Given the description of an element on the screen output the (x, y) to click on. 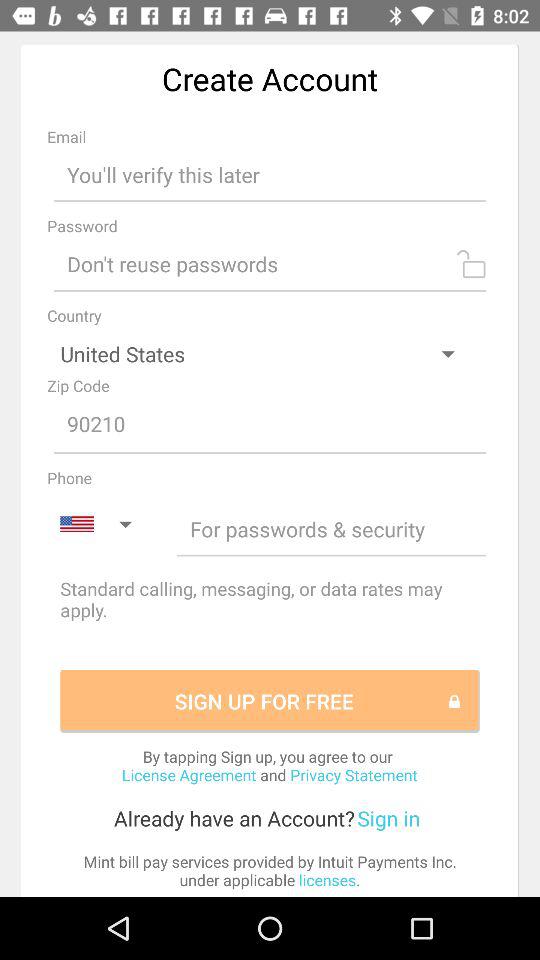
input zip code (270, 425)
